Given the description of an element on the screen output the (x, y) to click on. 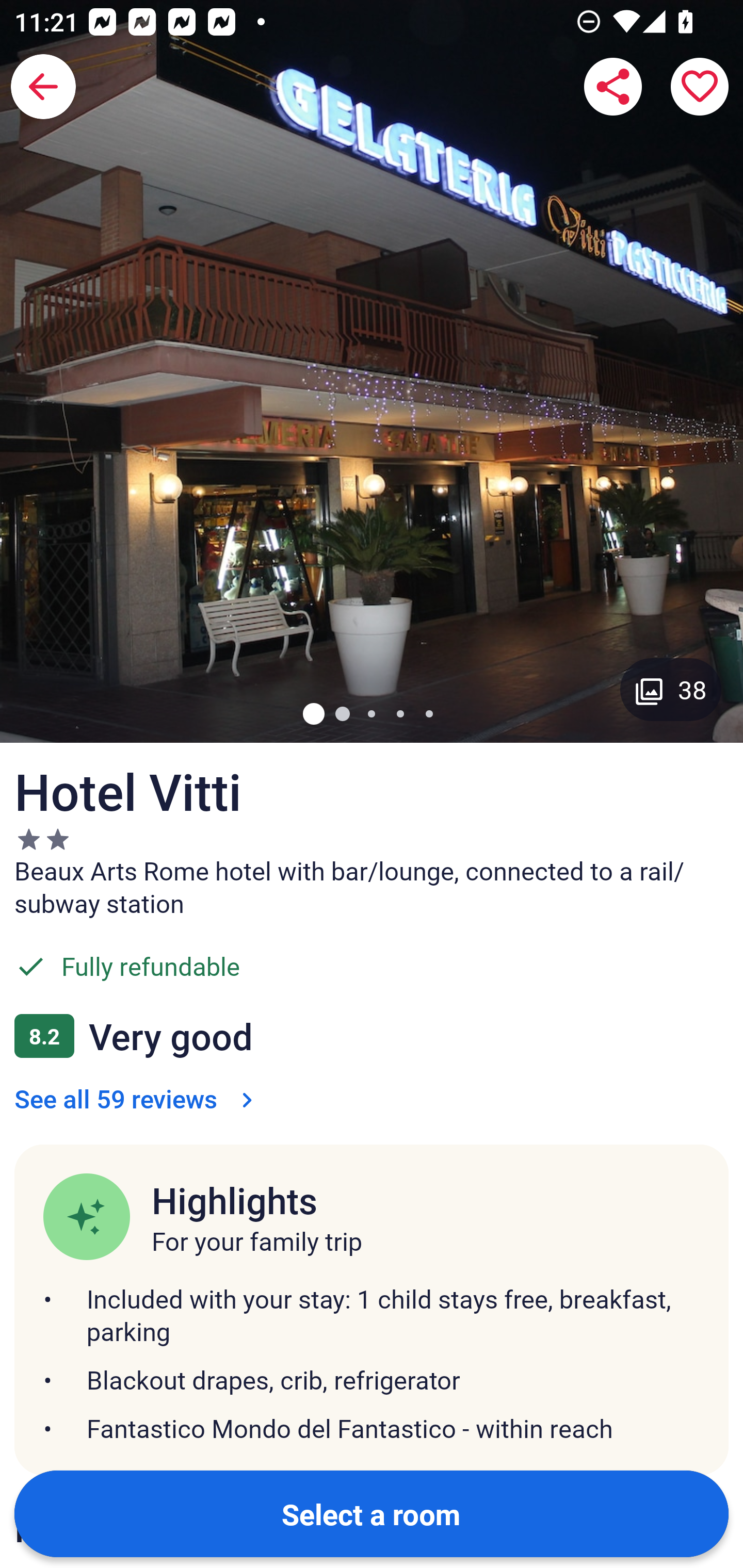
Back (43, 86)
Save property to a trip (699, 86)
Share Hotel Vitti (612, 87)
Gallery button with 38 images (670, 689)
See all 59 reviews See all 59 reviews Link (137, 1098)
Select a room Button Select a room (371, 1513)
